Given the description of an element on the screen output the (x, y) to click on. 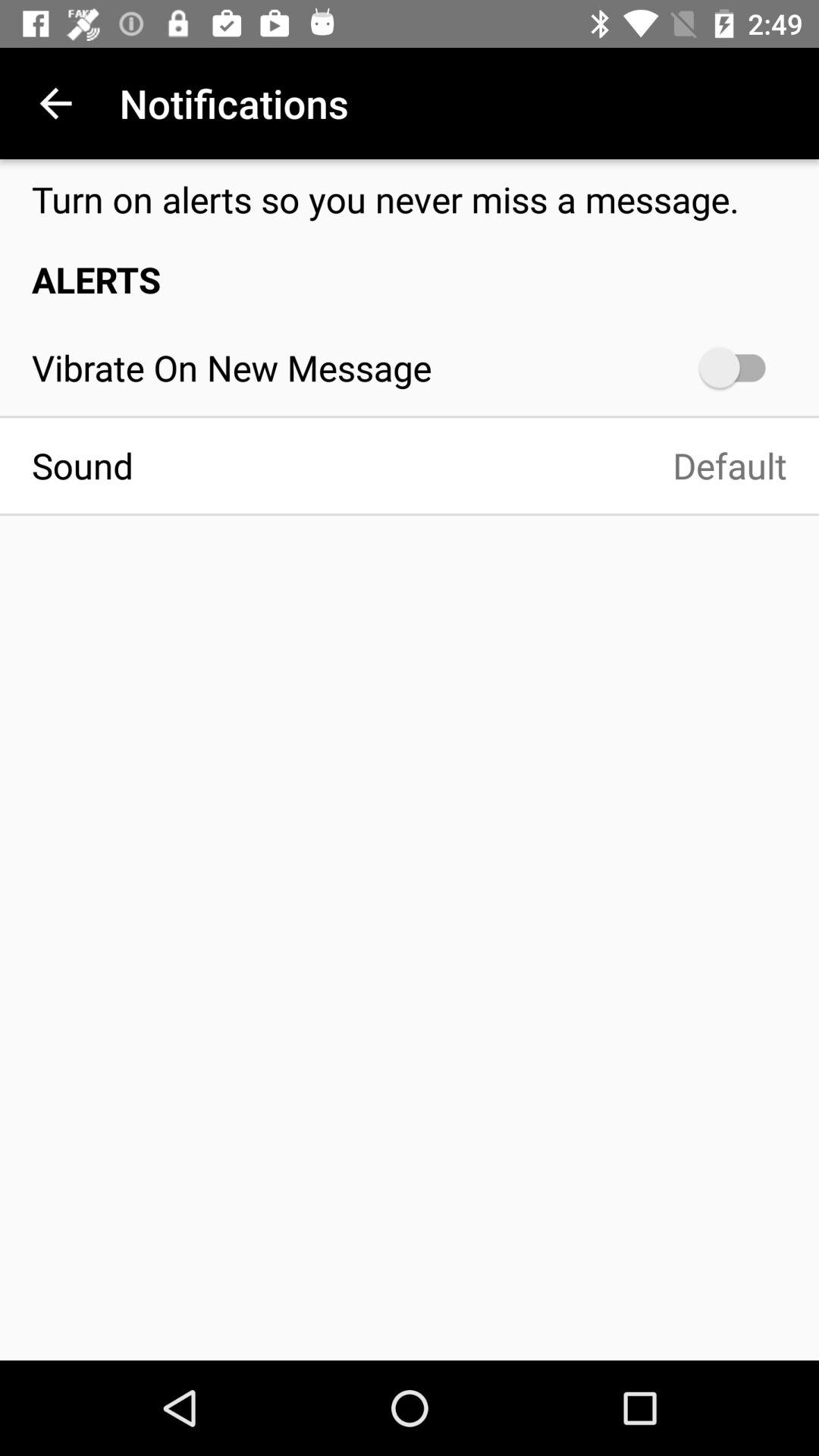
open the icon next to the sound icon (476, 465)
